Given the description of an element on the screen output the (x, y) to click on. 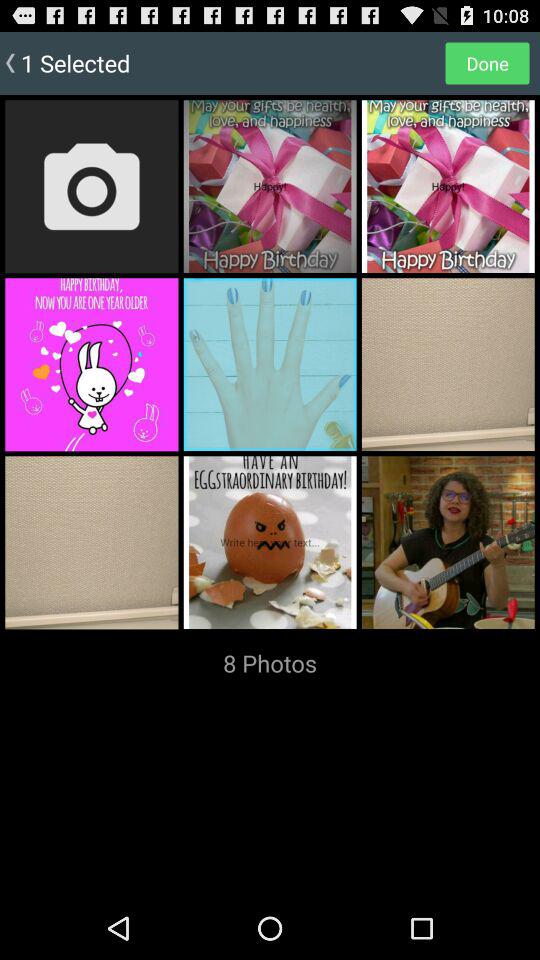
flip to the 8 photos item (269, 663)
